Given the description of an element on the screen output the (x, y) to click on. 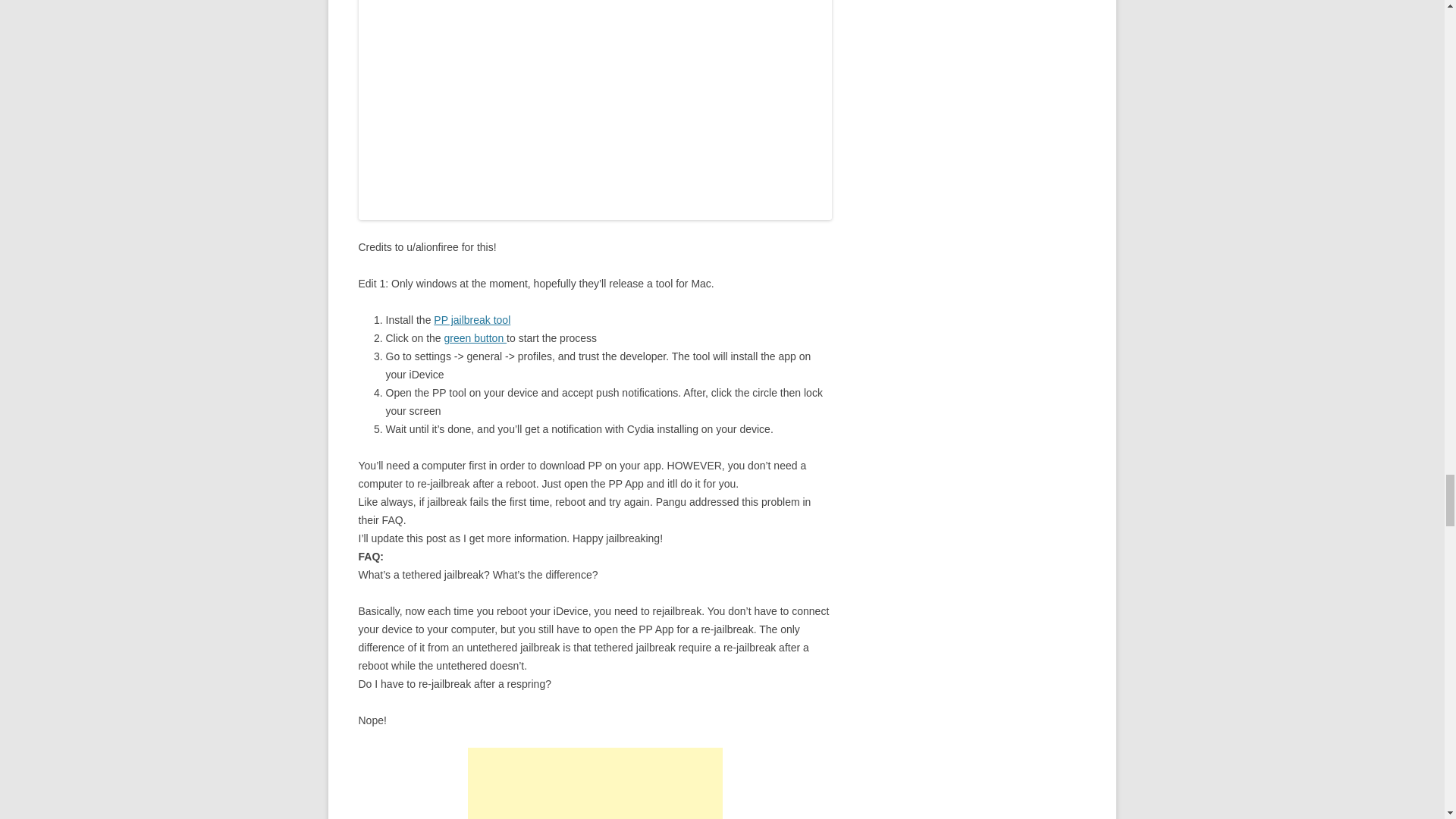
green button (475, 337)
PP jailbreak tool (472, 319)
